Given the description of an element on the screen output the (x, y) to click on. 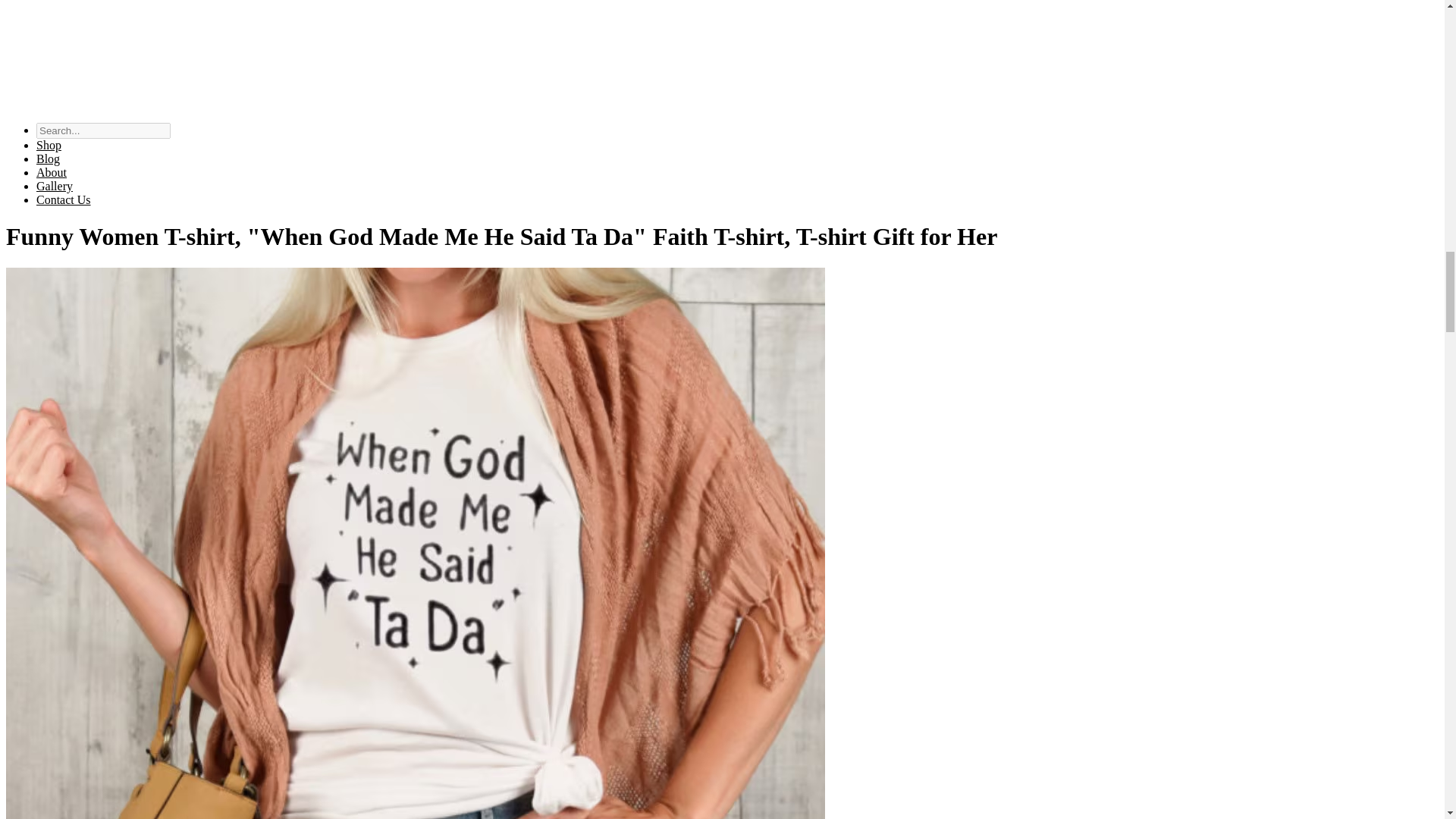
Gallery (54, 185)
Blog (47, 158)
About (51, 172)
Contact Us (63, 199)
Shop (48, 144)
